Given the description of an element on the screen output the (x, y) to click on. 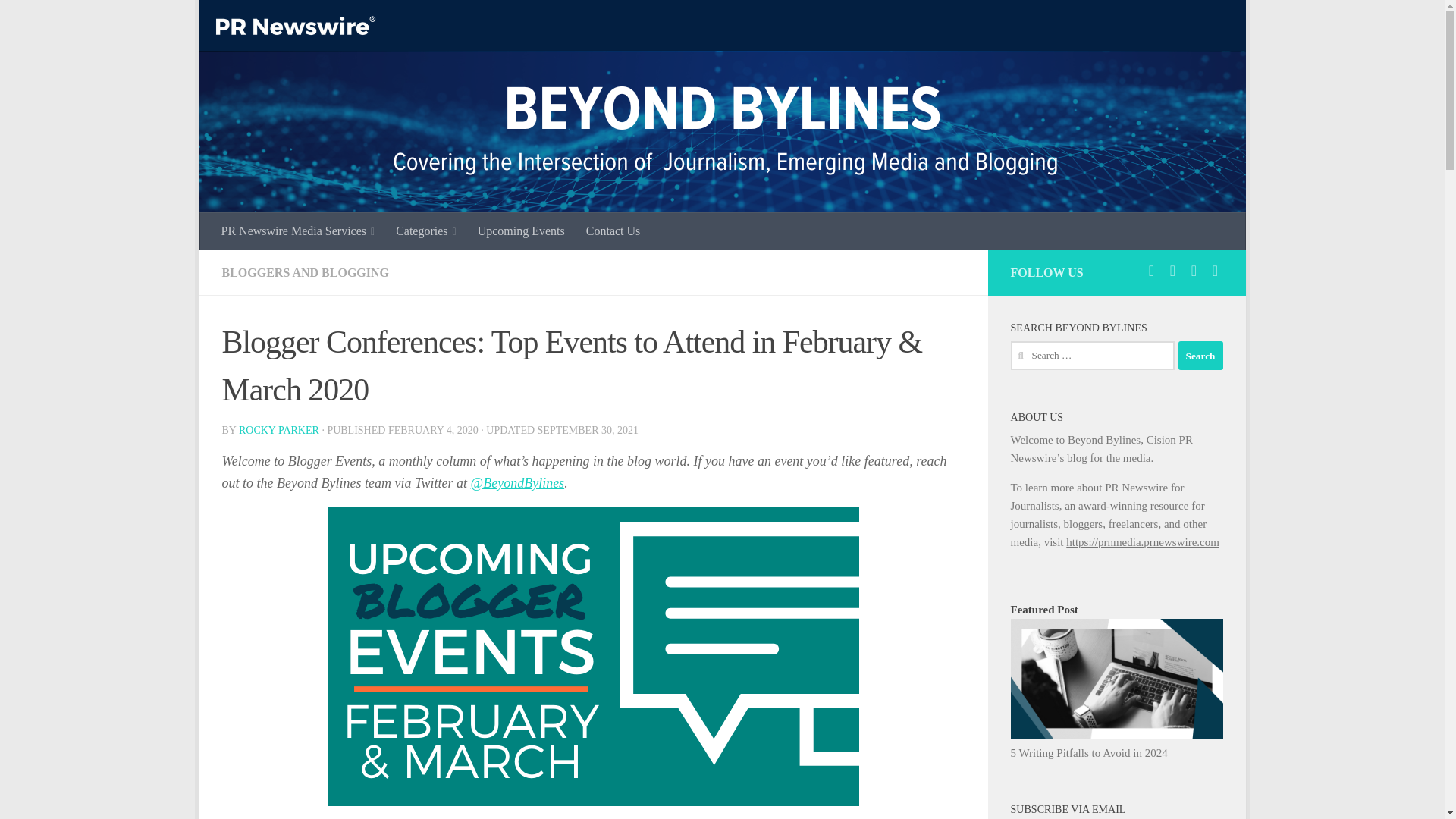
PR Newswire Media Services (298, 231)
Skip to content (258, 20)
Search (1200, 355)
Follow us on Twitter (1150, 270)
Upcoming Events (521, 231)
BLOGGERS AND BLOGGING (304, 272)
Follow us on Linkedin (1193, 270)
Follow us on Rss (1215, 270)
ROCKY PARKER (278, 430)
Follow us on Facebook (1171, 270)
Contact Us (612, 231)
Search (1200, 355)
Categories (426, 231)
